Given the description of an element on the screen output the (x, y) to click on. 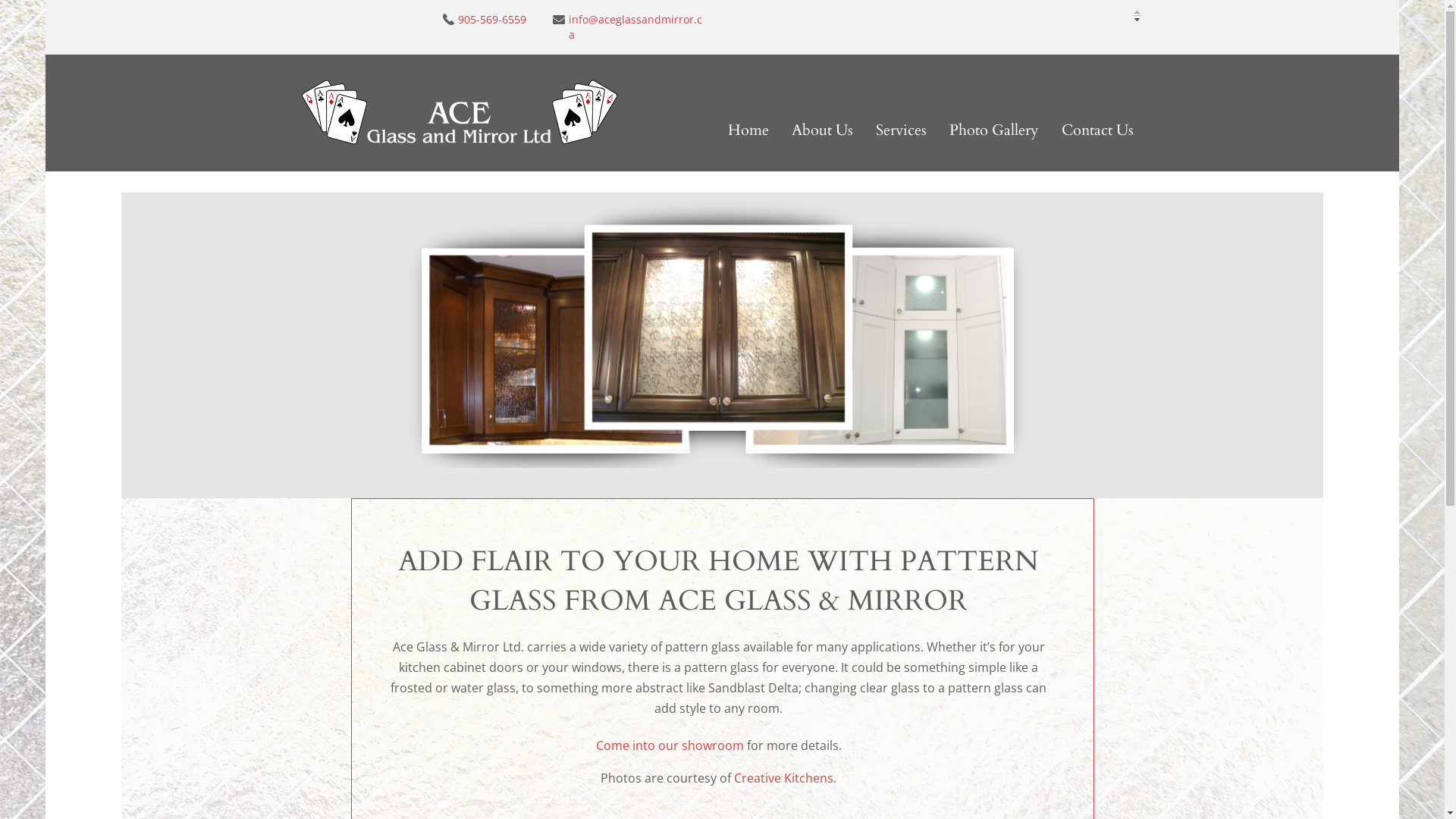
Contact Us Element type: text (1097, 129)
Embedded Content Element type: hover (1038, 15)
info@aceglassandmirror.ca Element type: text (635, 26)
About Us Element type: text (822, 129)
Services Element type: text (901, 129)
905-569-6559 Element type: text (492, 18)
Come into our showroom Element type: text (669, 747)
Home Element type: text (748, 129)
Creative Kitchens Element type: text (783, 779)
Photo Gallery Element type: text (994, 129)
